Given the description of an element on the screen output the (x, y) to click on. 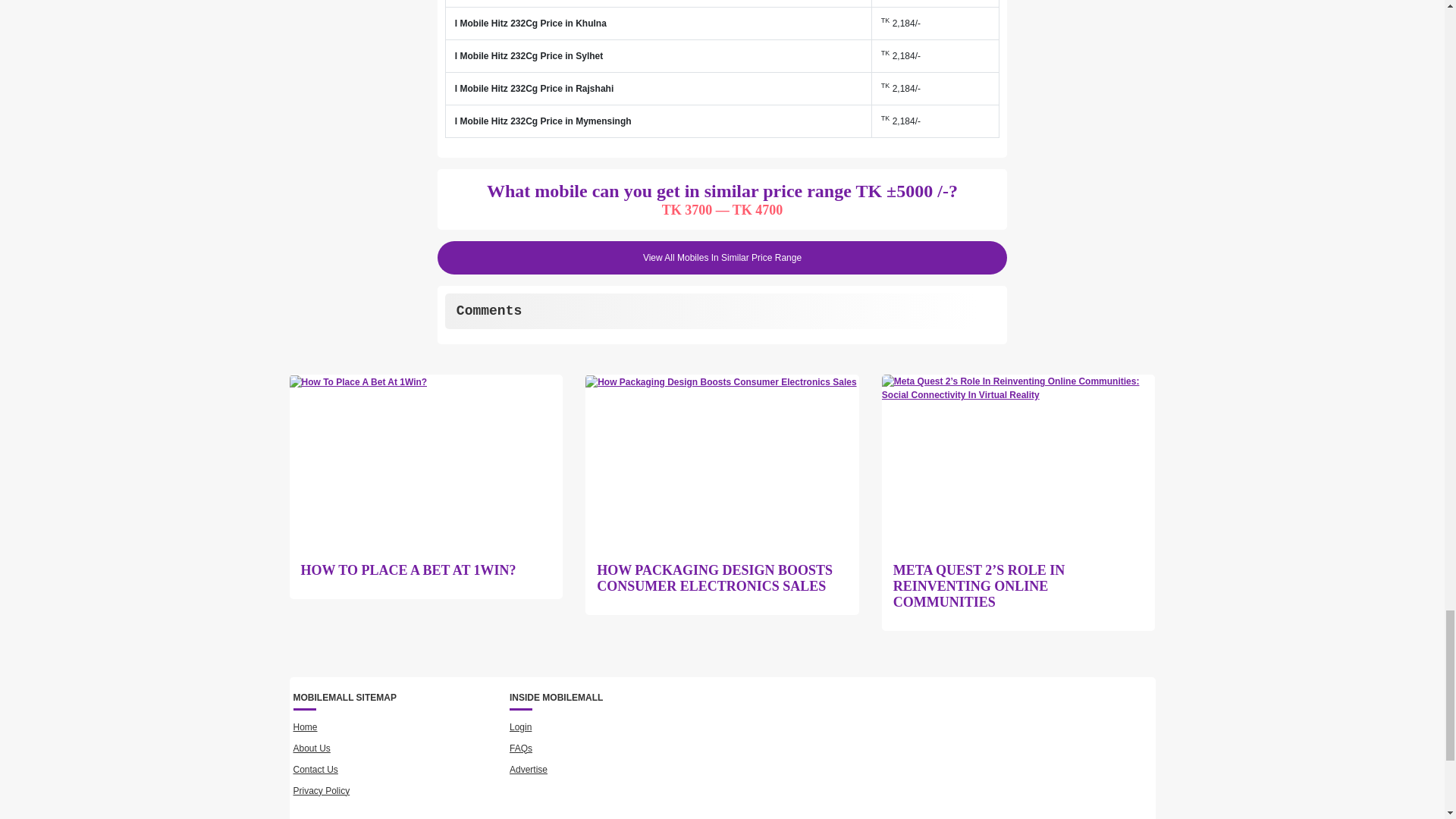
View All Mobiles In Similar Price Range (722, 257)
How To Place A Bet At 1Win? (358, 382)
How Packaging Design Boosts Consumer Electronics Sales (722, 577)
How Packaging Design Boosts Consumer Electronics Sales (720, 382)
How To Place A Bet At 1Win? (408, 569)
